Given the description of an element on the screen output the (x, y) to click on. 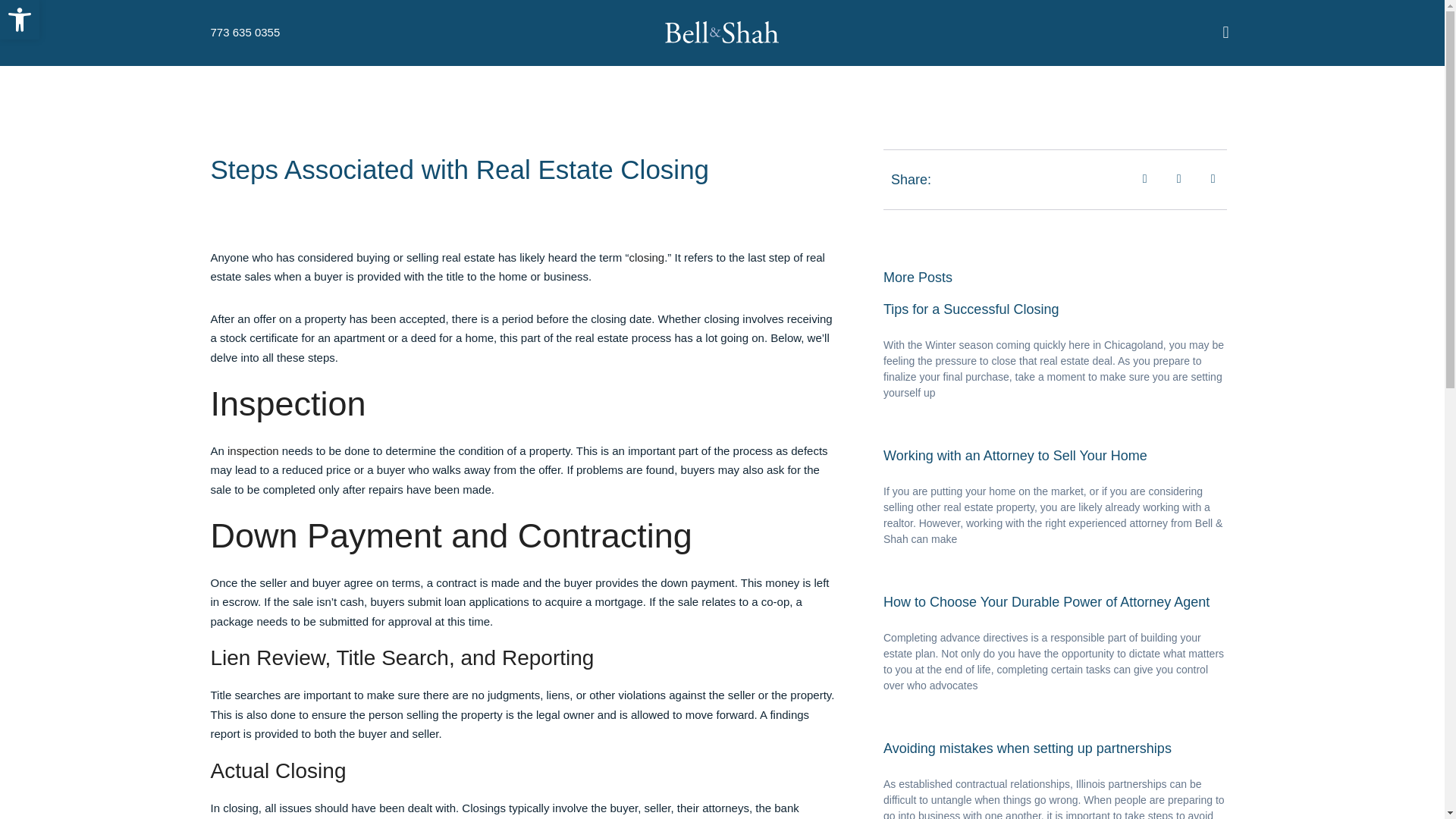
773 635 0355 (246, 32)
Working with an Attorney to Sell Your Home (1015, 454)
closing (19, 19)
Steps Associated with Real Estate Closing (645, 256)
Tips for a Successful Closing (460, 169)
Accessibility Tools (970, 309)
How to Choose Your Durable Power of Attorney Agent (19, 19)
Accessibility Tools (1046, 601)
inspection (19, 19)
Avoiding mistakes when setting up partnerships (253, 450)
